Given the description of an element on the screen output the (x, y) to click on. 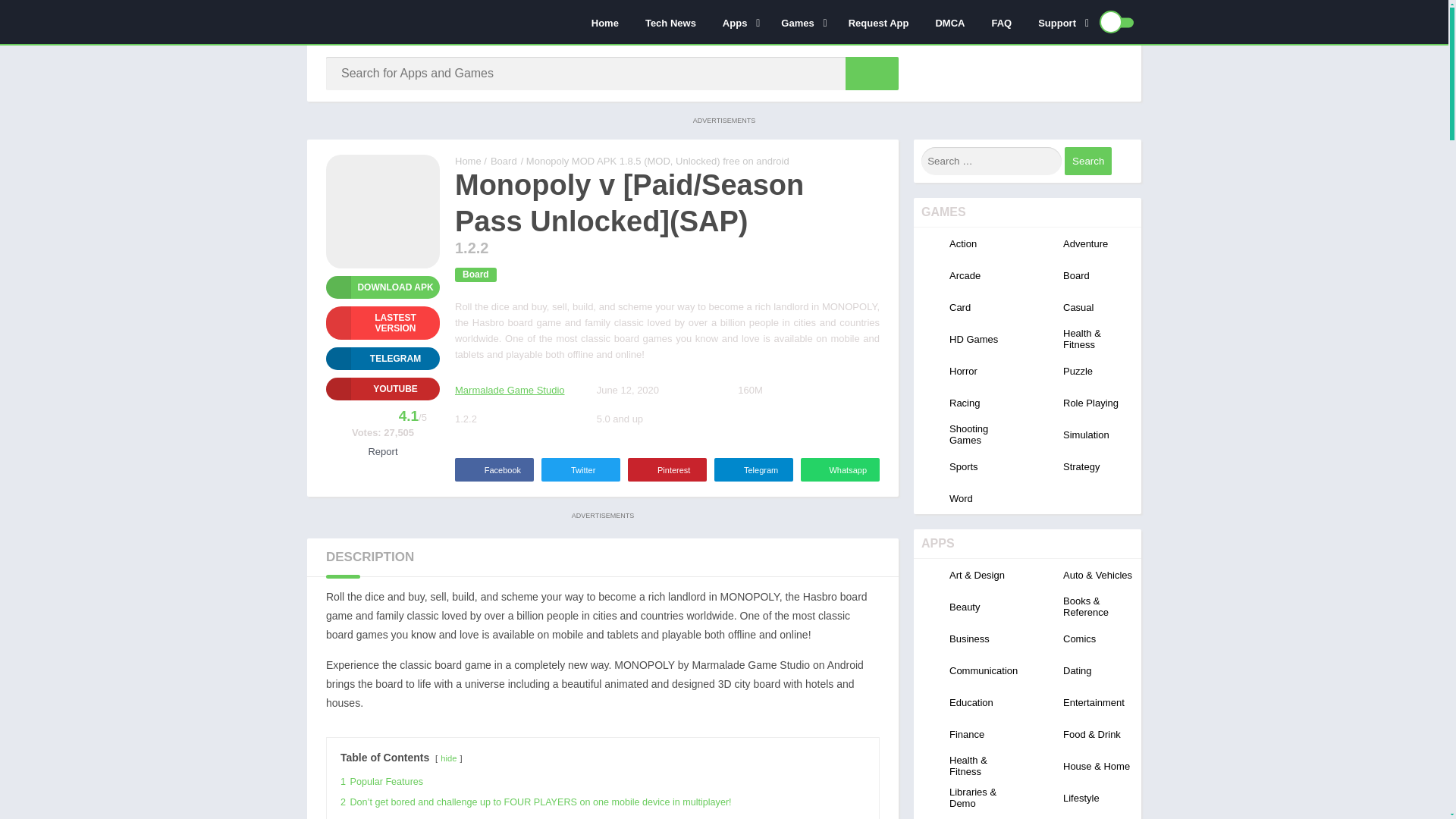
Tech News (668, 22)
Apps (737, 22)
Download APK (382, 287)
YouTube (382, 388)
Androjungle (467, 161)
Home (603, 22)
Search (1088, 161)
Telegram (382, 358)
Search (1088, 161)
Search for Apps and Games (871, 73)
